Given the description of an element on the screen output the (x, y) to click on. 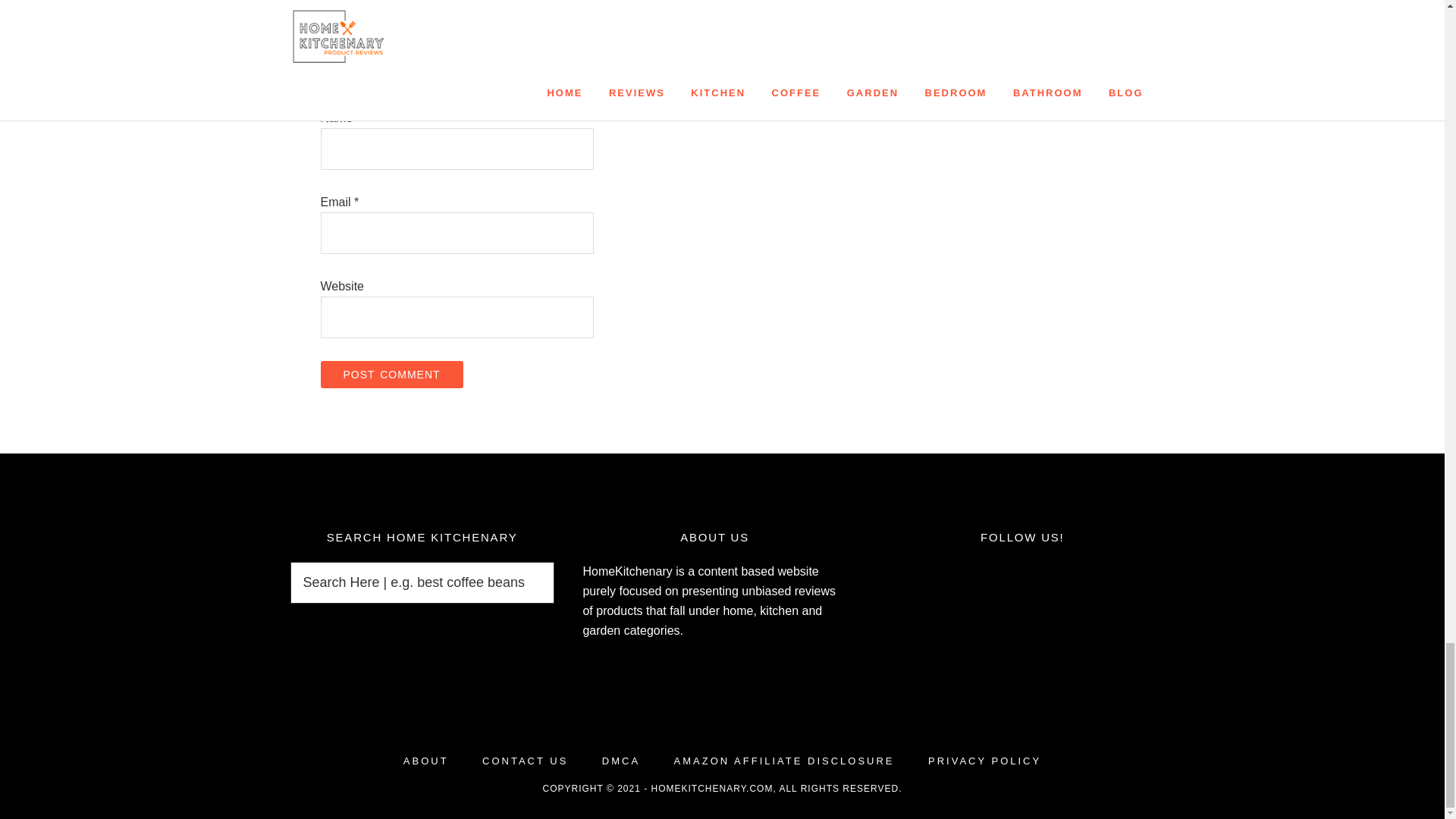
Post Comment (391, 374)
Post Comment (391, 374)
